Given the description of an element on the screen output the (x, y) to click on. 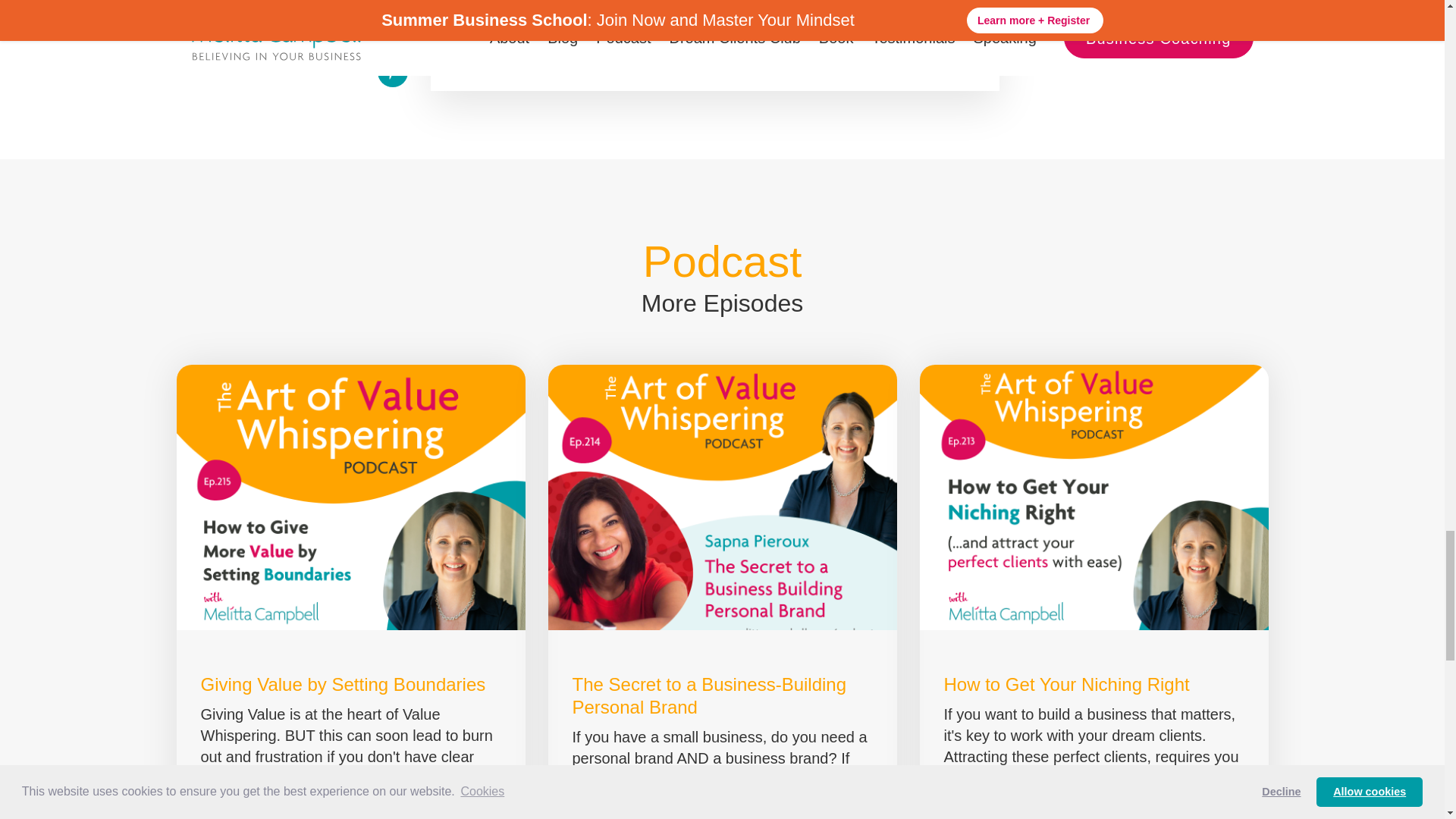
Small business (775, 1)
Inspiration (585, 1)
Lessons (672, 1)
Business (494, 1)
Success (876, 1)
